Given the description of an element on the screen output the (x, y) to click on. 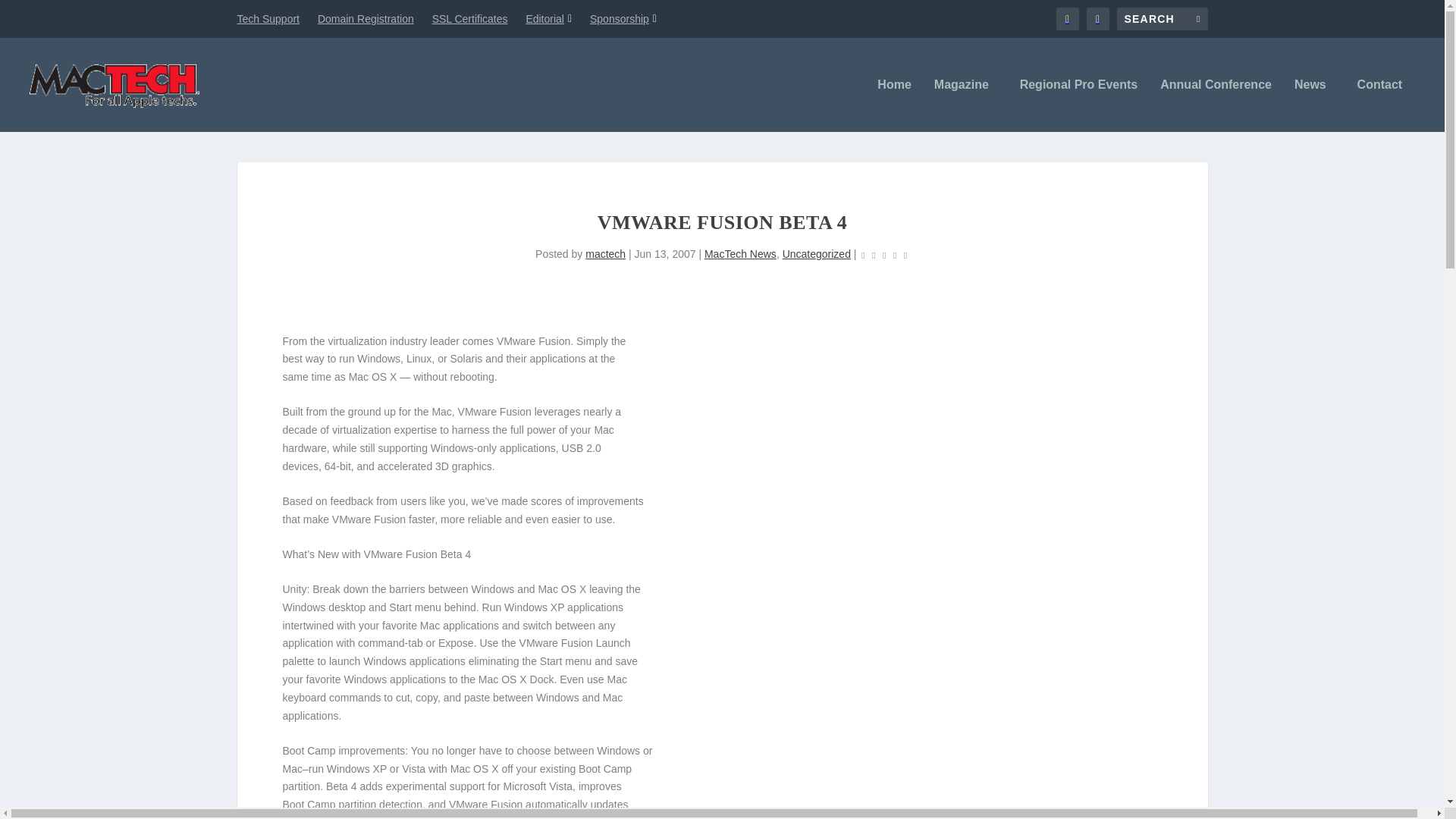
Editorial (548, 18)
Contact (1383, 104)
SSL Certificates (470, 18)
Annual Conference (1215, 104)
Magazine (965, 104)
Sponsorship (622, 18)
Regional Pro Events (1079, 104)
Domain Registration (365, 18)
Rating: 0.00 (883, 254)
Search for: (1161, 18)
Tech Support (267, 18)
Posts by mactech (605, 254)
